Given the description of an element on the screen output the (x, y) to click on. 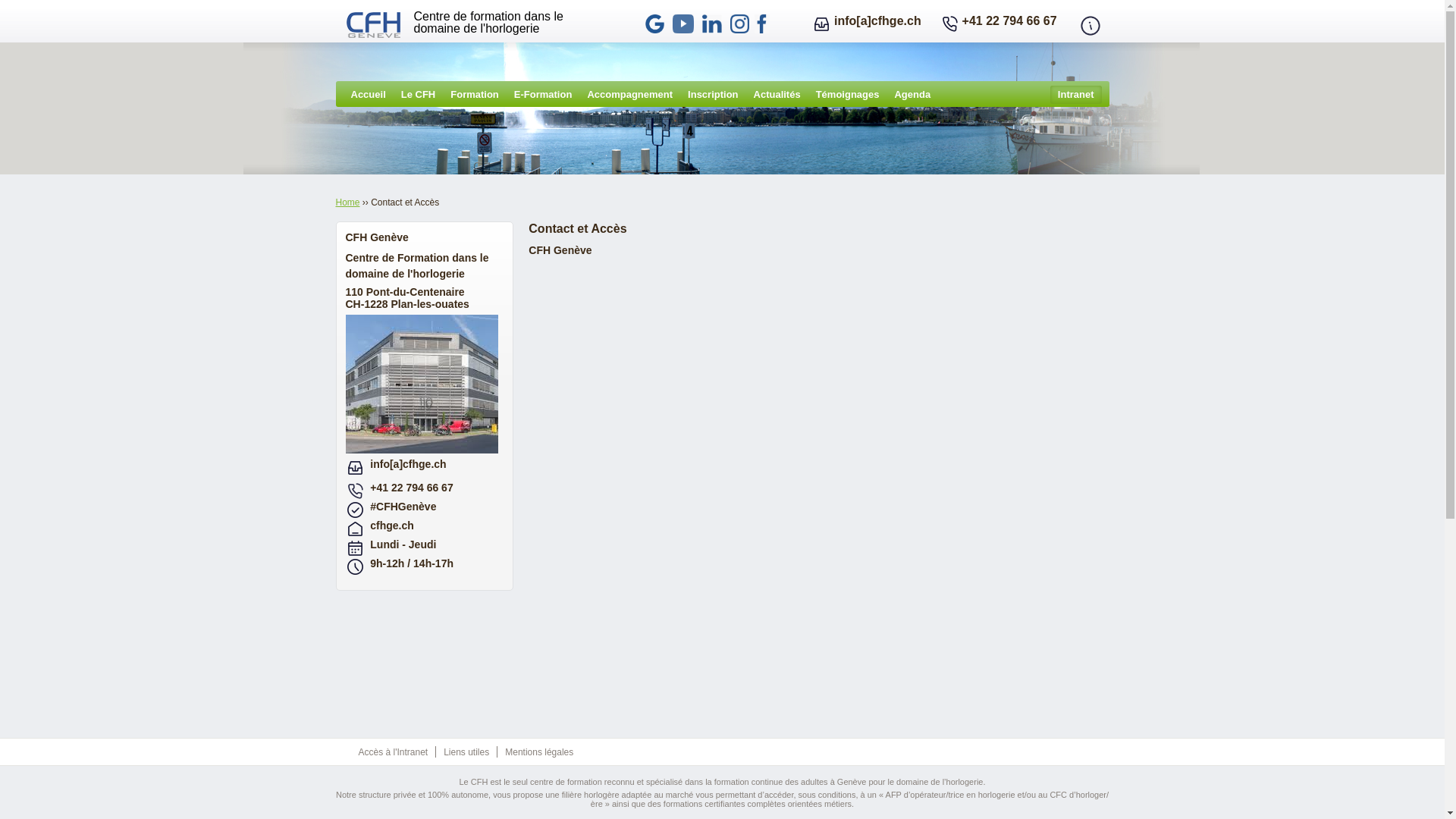
Jump to navigation Element type: text (722, 2)
Liens utiles Element type: text (466, 751)
Inscription Element type: text (712, 95)
Home Element type: text (347, 202)
Le CFH Element type: text (418, 95)
Formation Element type: text (474, 95)
E-Formation Element type: text (543, 95)
Accompagnement Element type: text (629, 95)
Accueil Element type: text (367, 95)
Agenda Element type: text (912, 95)
Centre de formation dans le domaine de l'horlogerie Element type: text (488, 21)
Intranet Element type: text (1075, 94)
Home Element type: hover (373, 26)
